Given the description of an element on the screen output the (x, y) to click on. 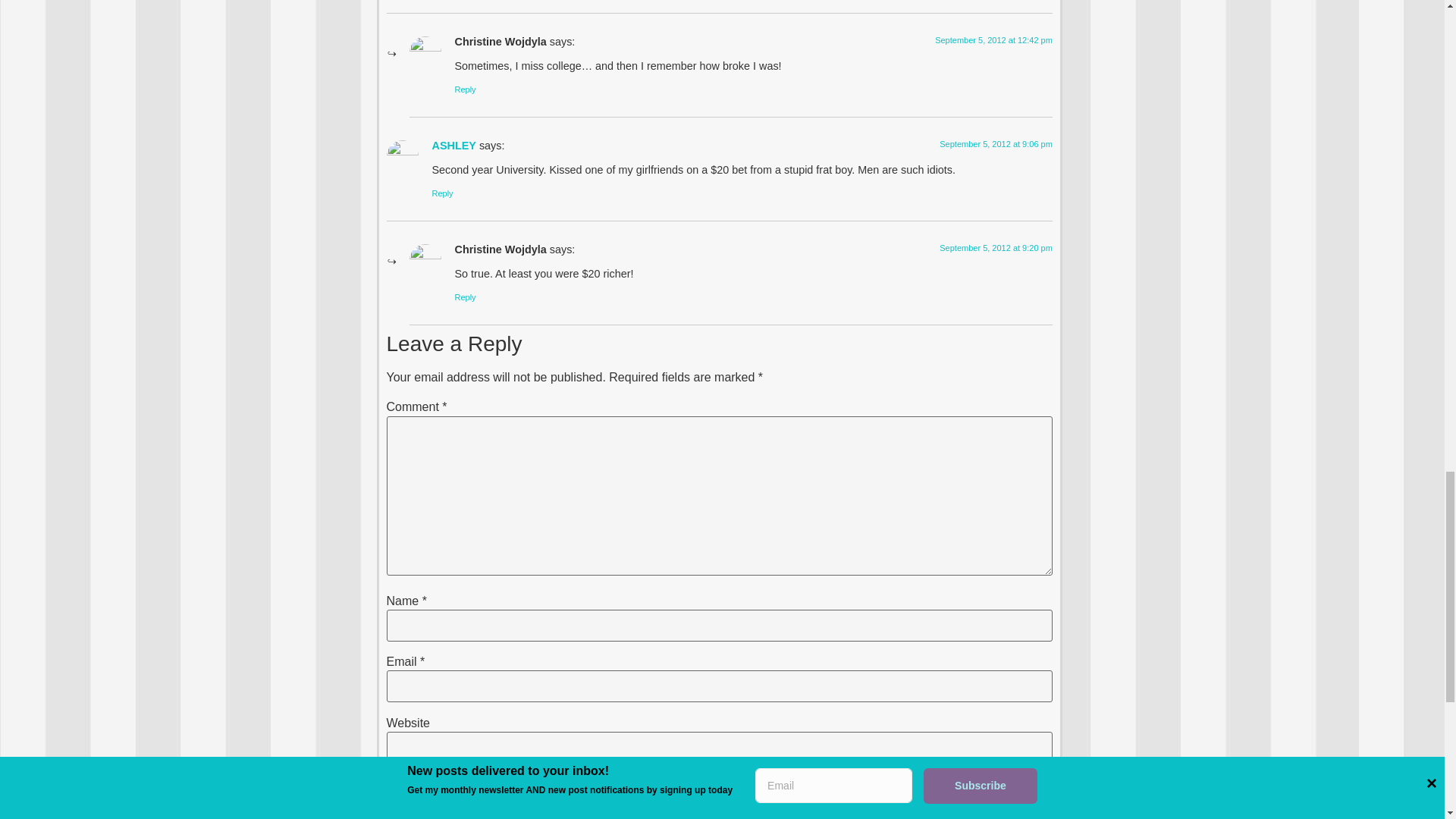
Post Comment (440, 789)
